Given the description of an element on the screen output the (x, y) to click on. 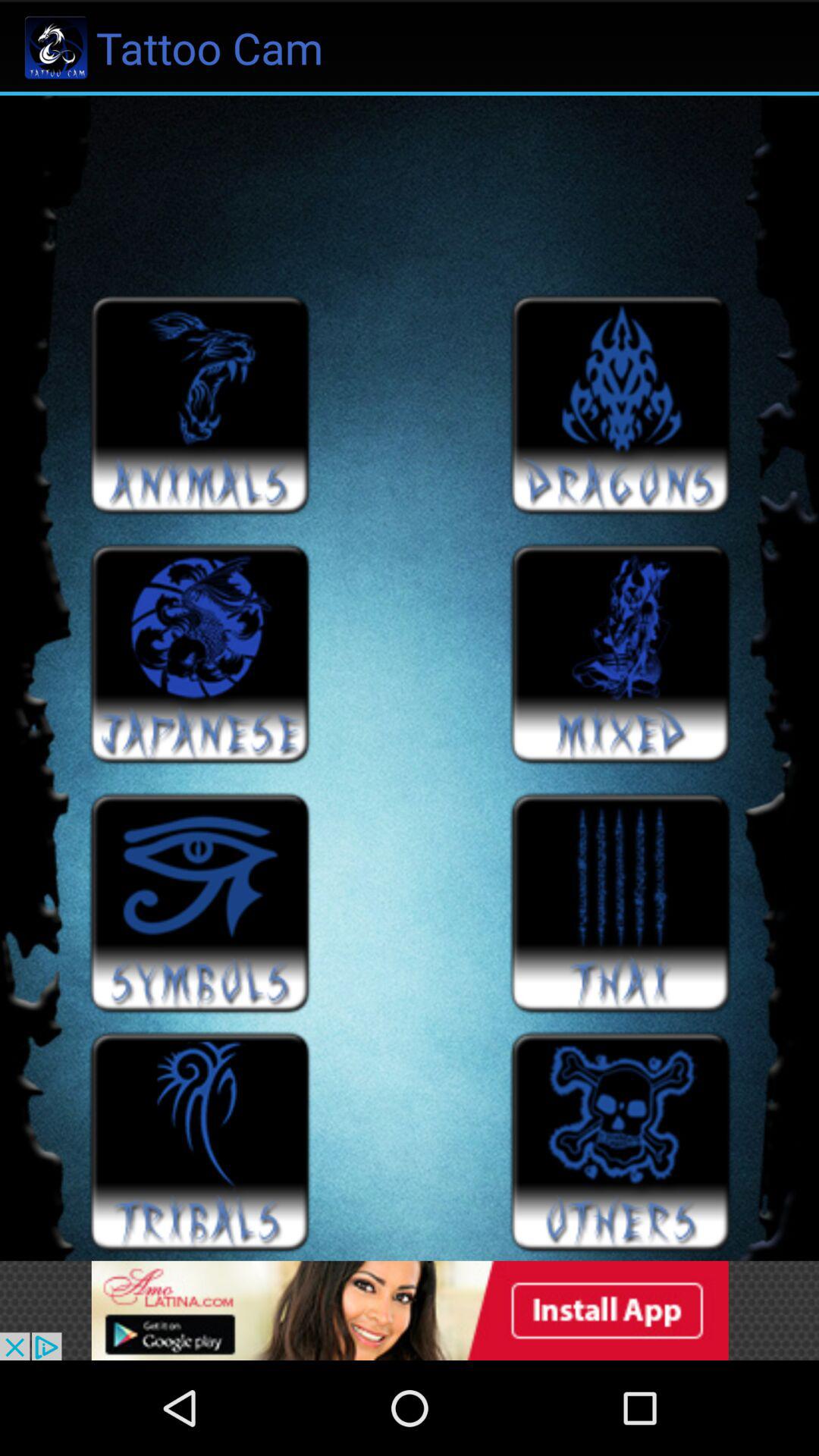
advertisement (409, 1310)
